Given the description of an element on the screen output the (x, y) to click on. 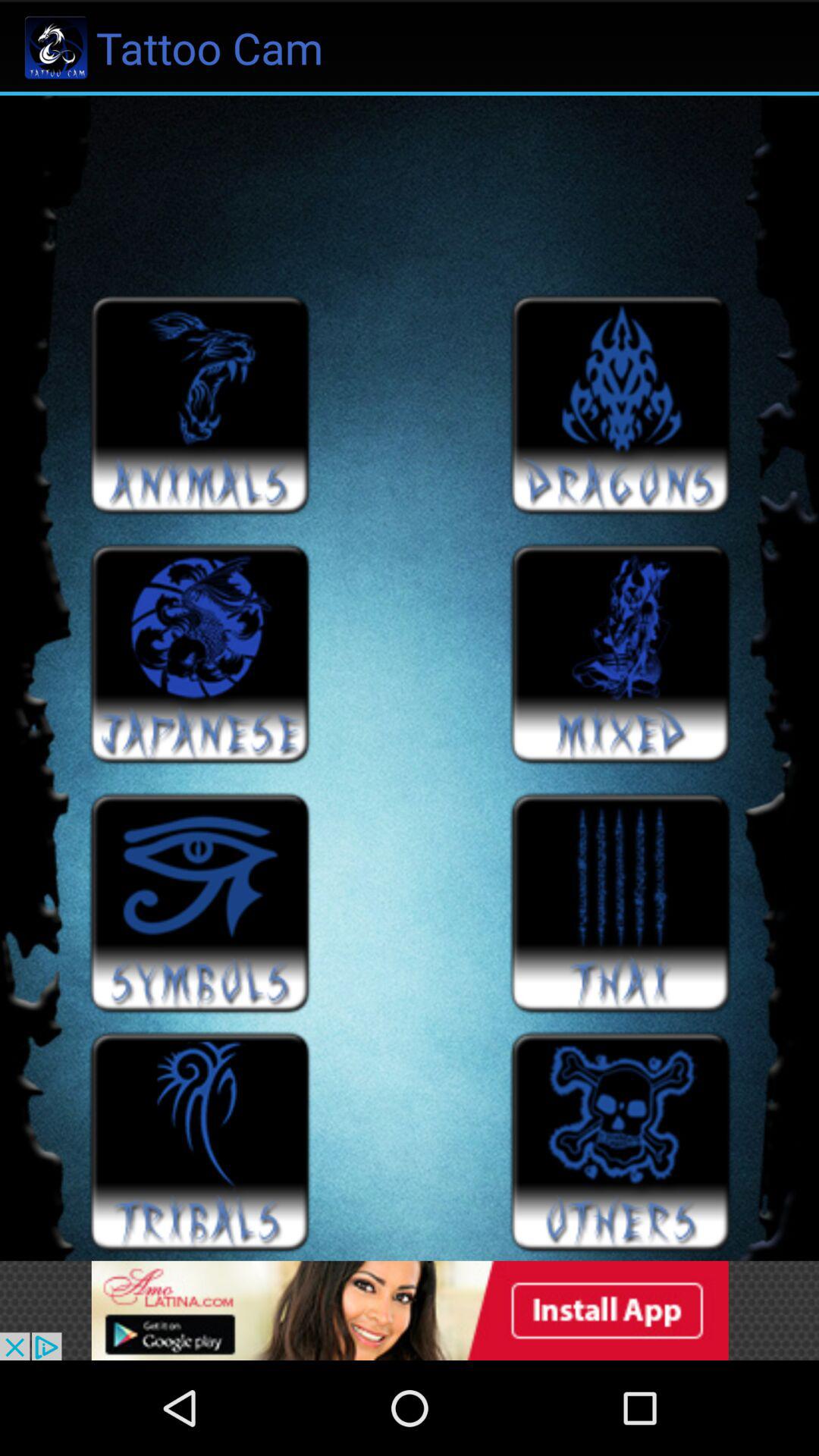
advertisement (409, 1310)
